Given the description of an element on the screen output the (x, y) to click on. 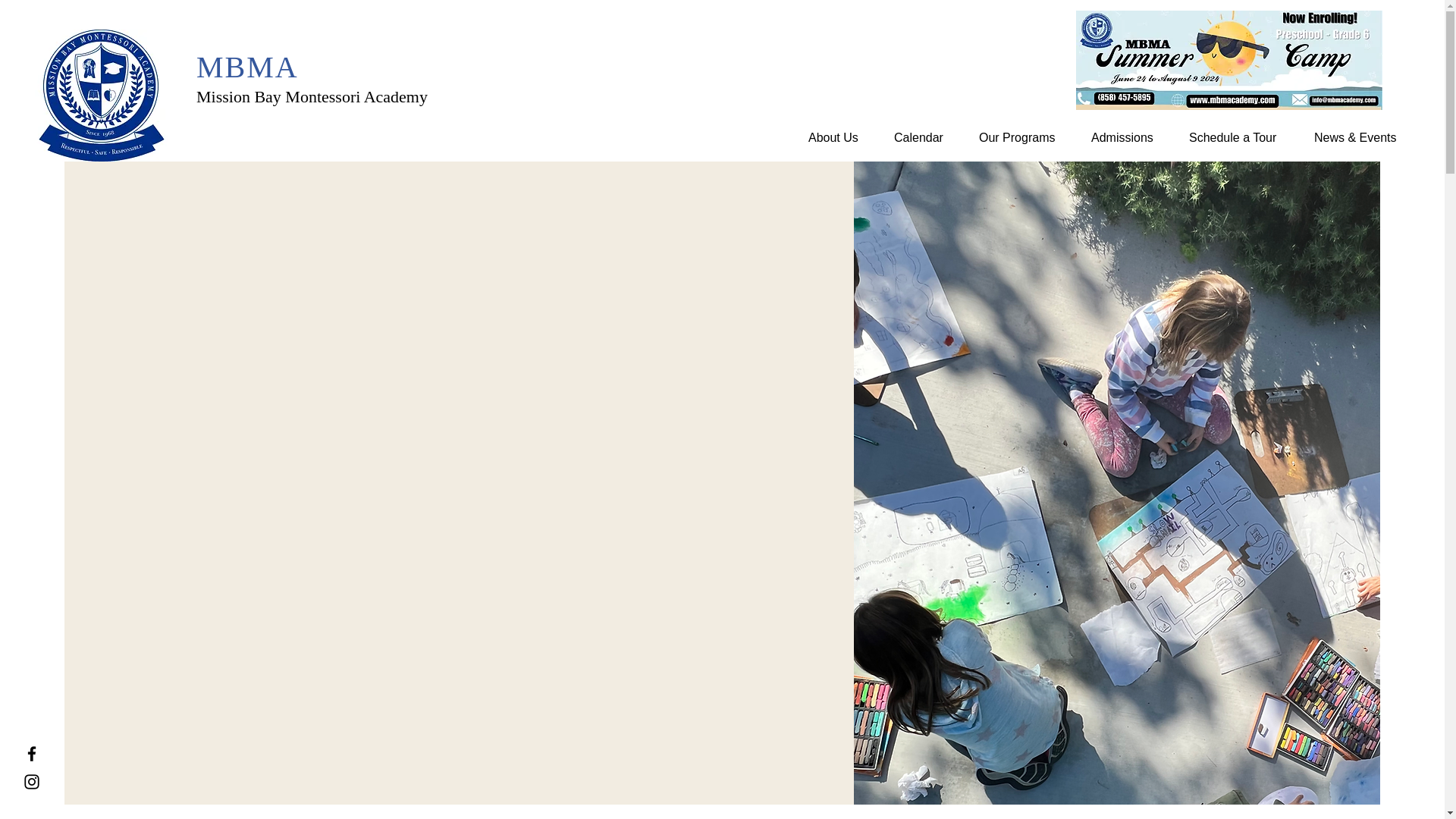
Admissions (1128, 137)
Calendar (925, 137)
Schedule a Tour (1240, 137)
About Us (839, 137)
Our Programs (1024, 137)
summercampbanner2024.jpg (1228, 59)
